Given the description of an element on the screen output the (x, y) to click on. 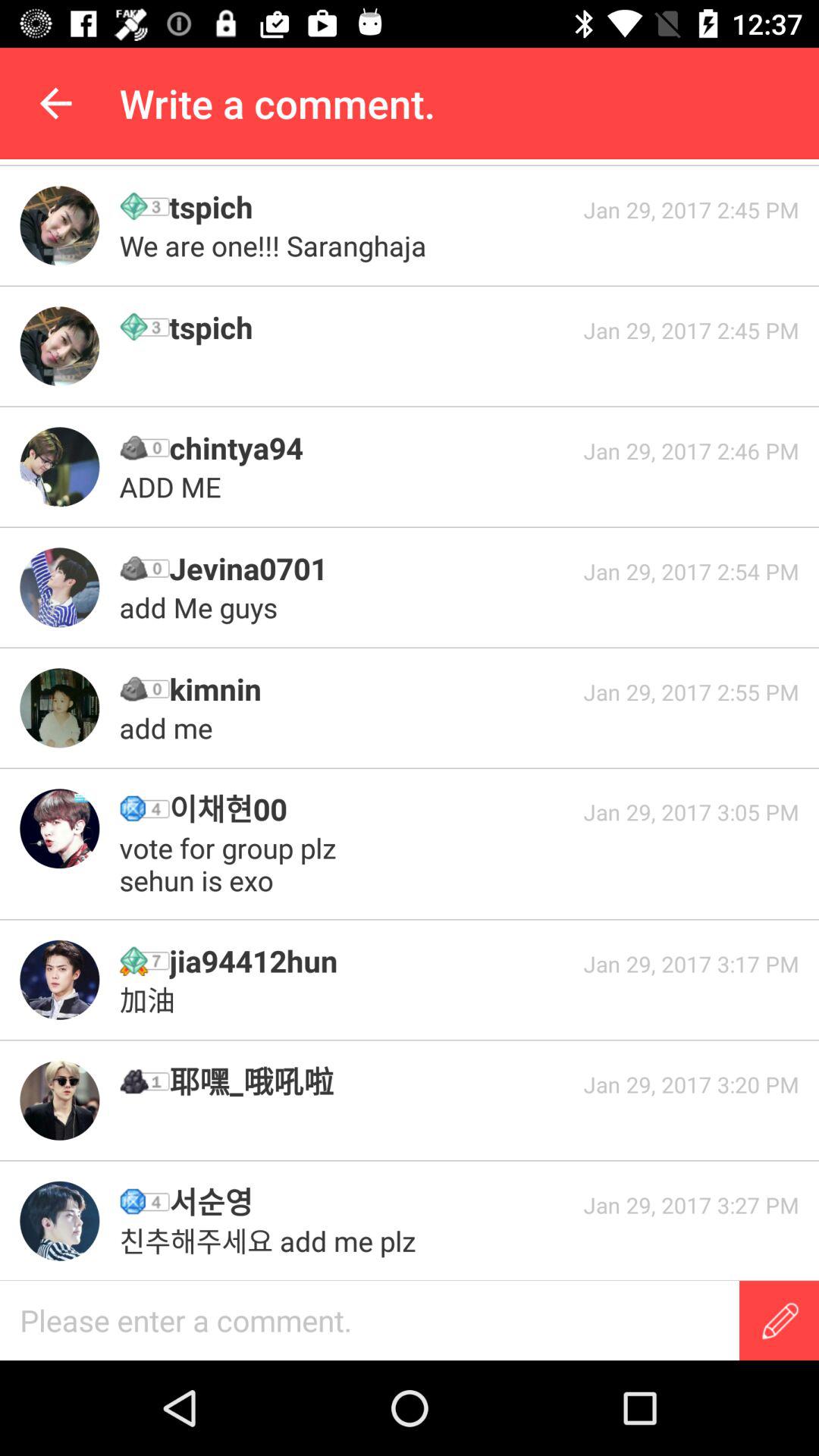
press item next to the write a comment. item (55, 103)
